Given the description of an element on the screen output the (x, y) to click on. 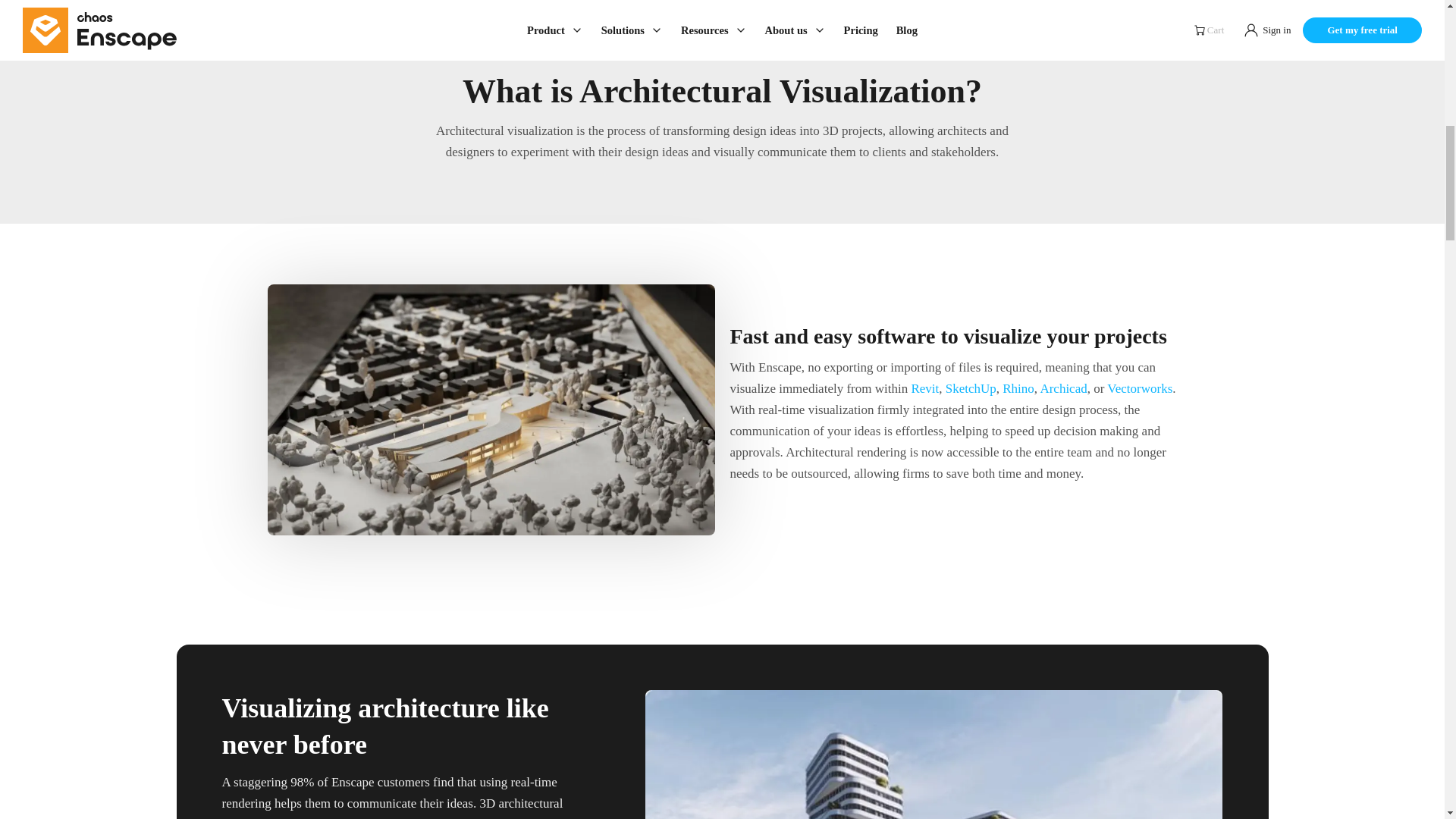
Vectorworks (1139, 388)
Revit (925, 388)
SketchUp (969, 388)
Archicad (1062, 388)
Rhino (1018, 388)
